Given the description of an element on the screen output the (x, y) to click on. 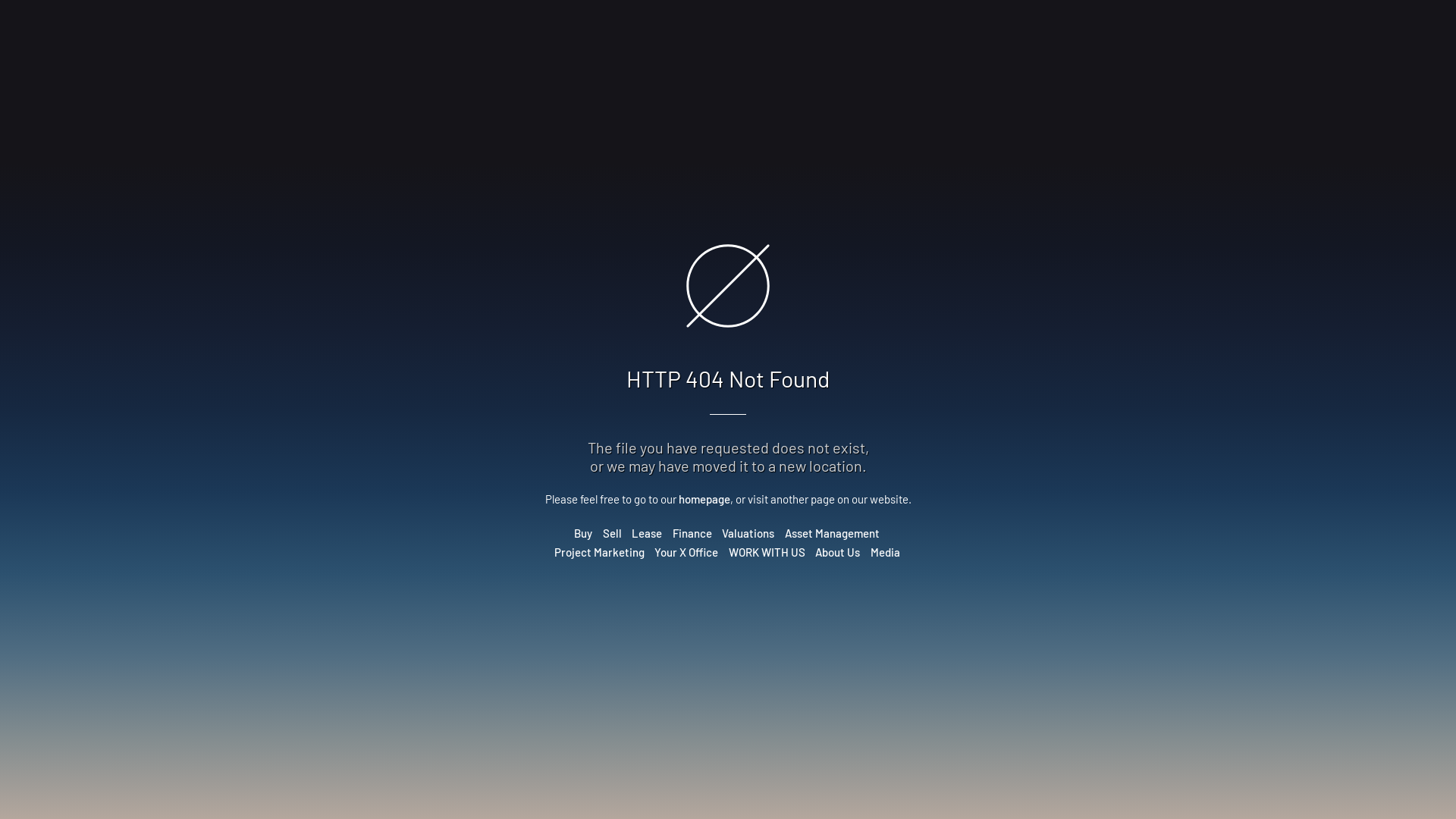
Buy Element type: text (583, 532)
About Us Element type: text (837, 551)
Lease Element type: text (646, 532)
Finance Element type: text (692, 532)
Your X Office Element type: text (686, 551)
Valuations Element type: text (747, 532)
Sell Element type: text (611, 532)
Project Marketing Element type: text (598, 551)
homepage Element type: text (703, 498)
Media Element type: text (885, 551)
WORK WITH US Element type: text (766, 551)
Asset Management Element type: text (831, 532)
